Given the description of an element on the screen output the (x, y) to click on. 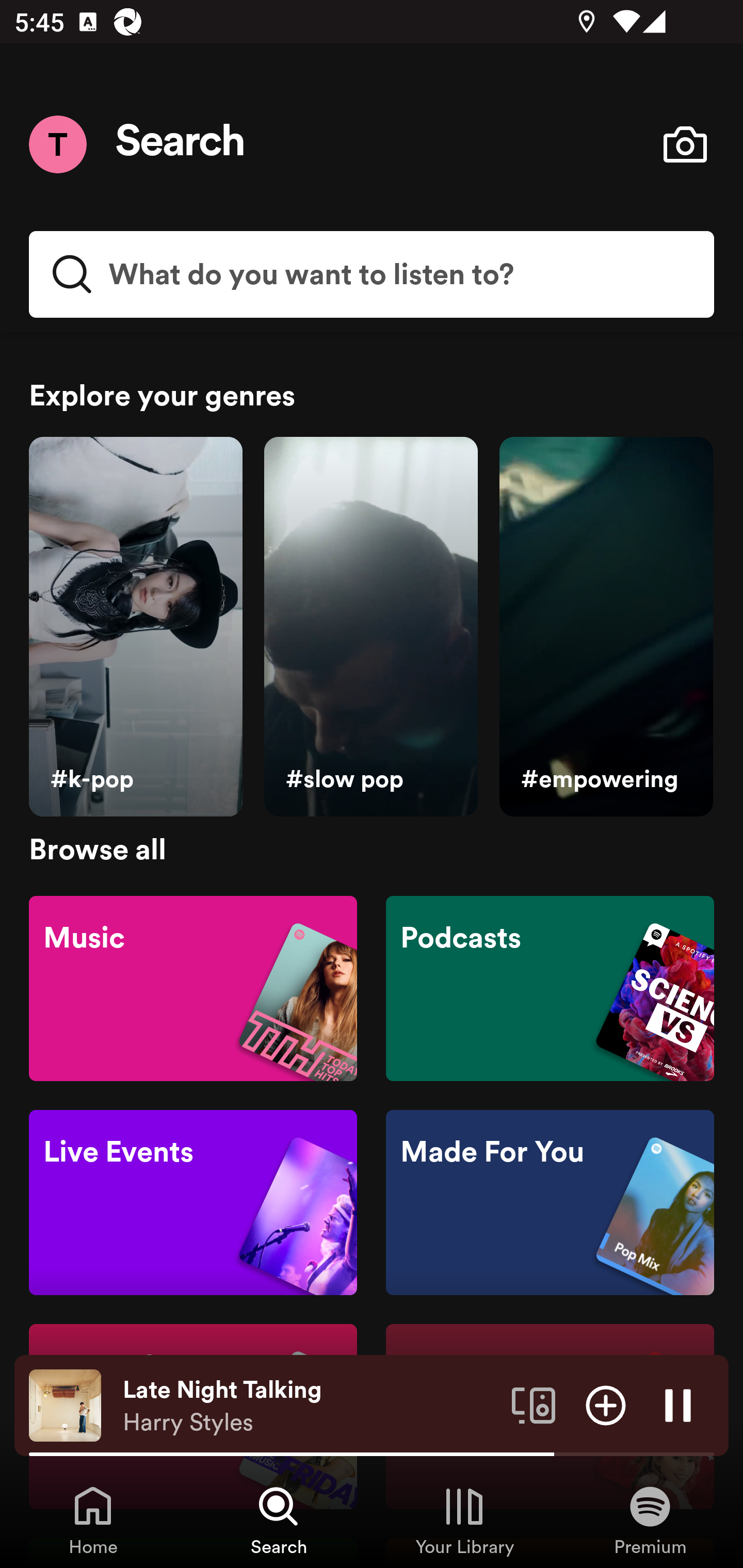
Menu (57, 144)
Open camera (685, 145)
Search (180, 144)
#k-pop (135, 626)
#slow pop (370, 626)
#empowering (606, 626)
Music (192, 987)
Podcasts (549, 987)
Live Events (192, 1202)
Made For You (549, 1202)
Late Night Talking Harry Styles (309, 1405)
The cover art of the currently playing track (64, 1404)
Connect to a device. Opens the devices menu (533, 1404)
Add item (605, 1404)
Pause (677, 1404)
Home, Tab 1 of 4 Home Home (92, 1519)
Search, Tab 2 of 4 Search Search (278, 1519)
Your Library, Tab 3 of 4 Your Library Your Library (464, 1519)
Premium, Tab 4 of 4 Premium Premium (650, 1519)
